Given the description of an element on the screen output the (x, y) to click on. 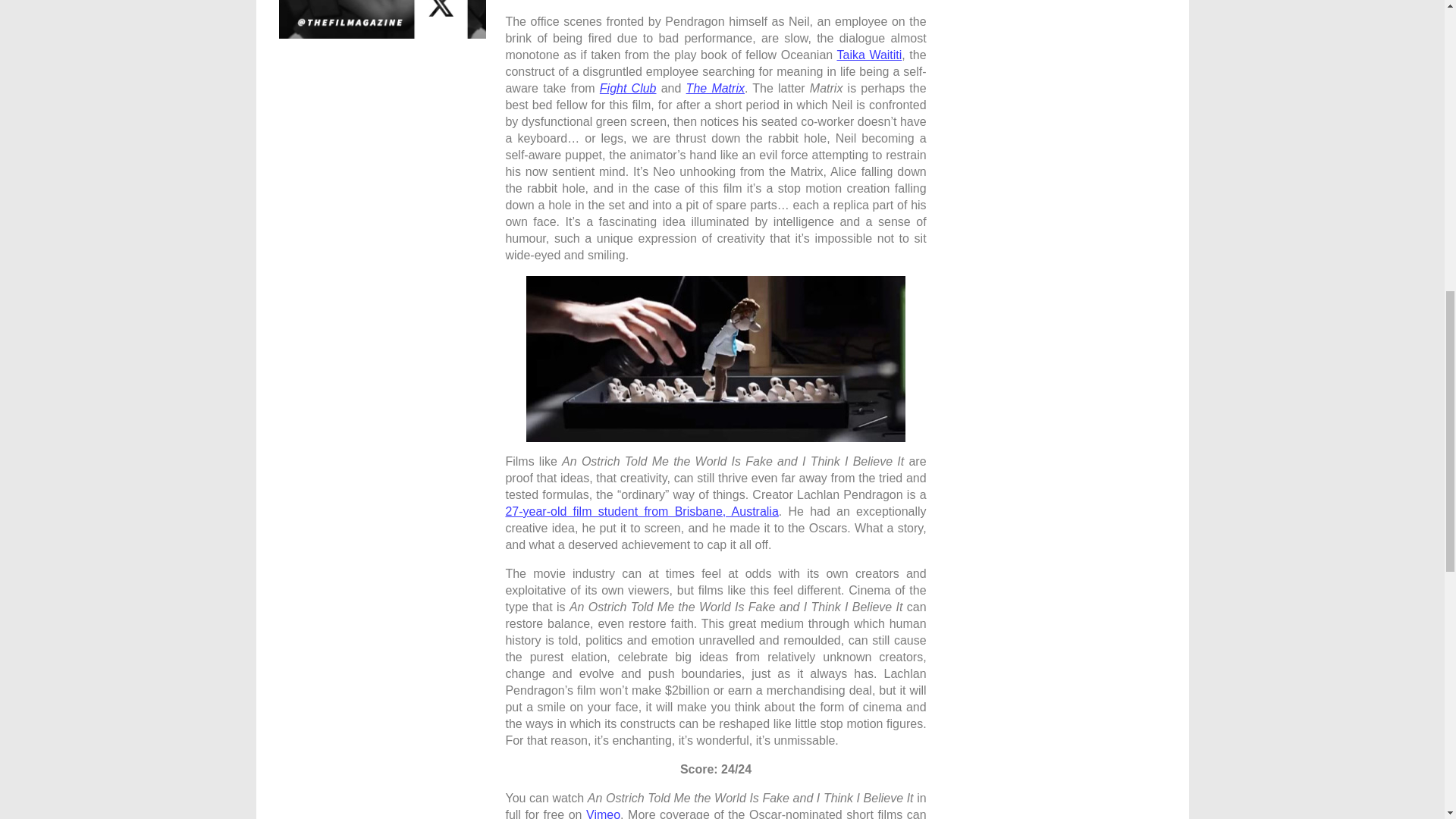
Wachowski Movies Ranked (714, 88)
David Fincher Movies Ranked (627, 88)
Taika Waititi Films Ranked (868, 54)
